Given the description of an element on the screen output the (x, y) to click on. 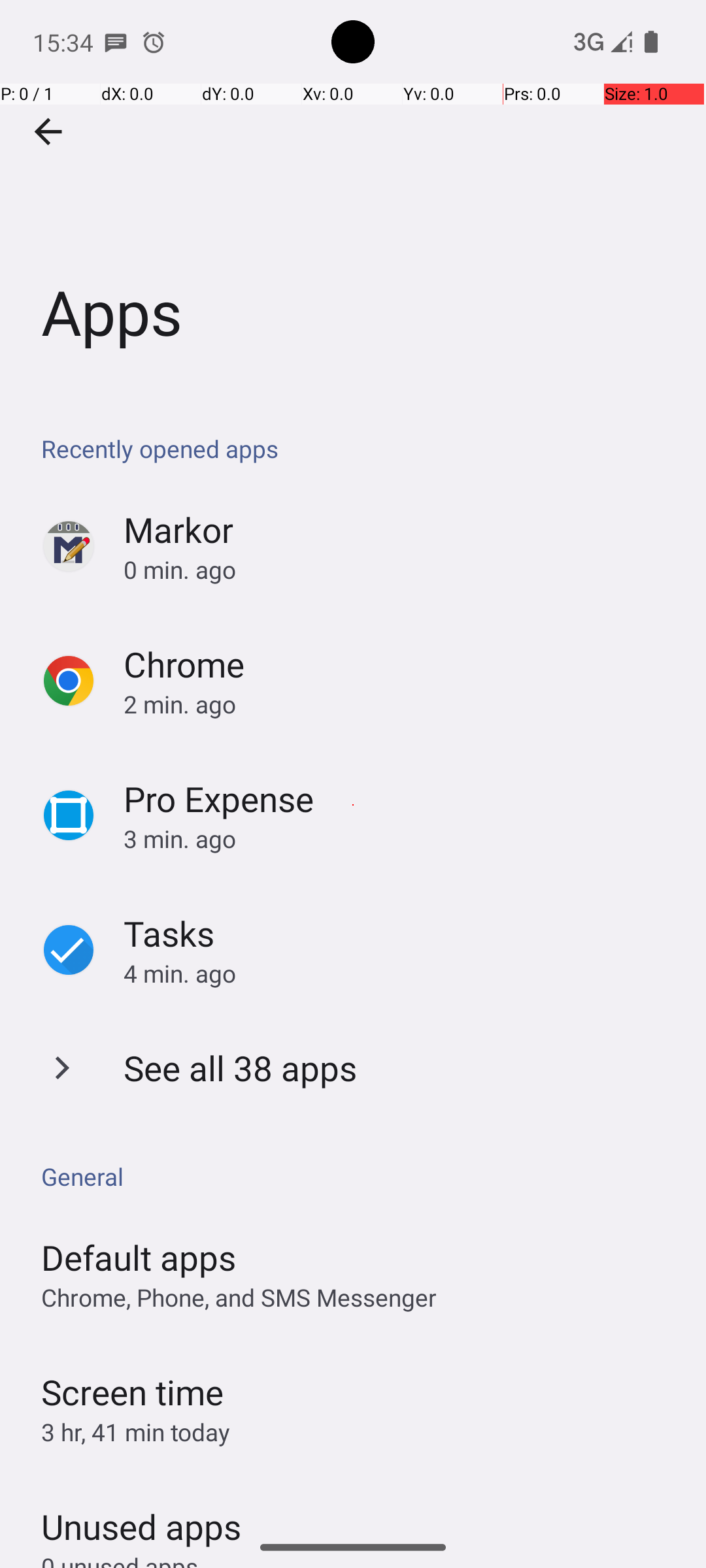
See all 38 apps Element type: android.widget.TextView (239, 1067)
3 hr, 41 min today Element type: android.widget.TextView (135, 1431)
